Given the description of an element on the screen output the (x, y) to click on. 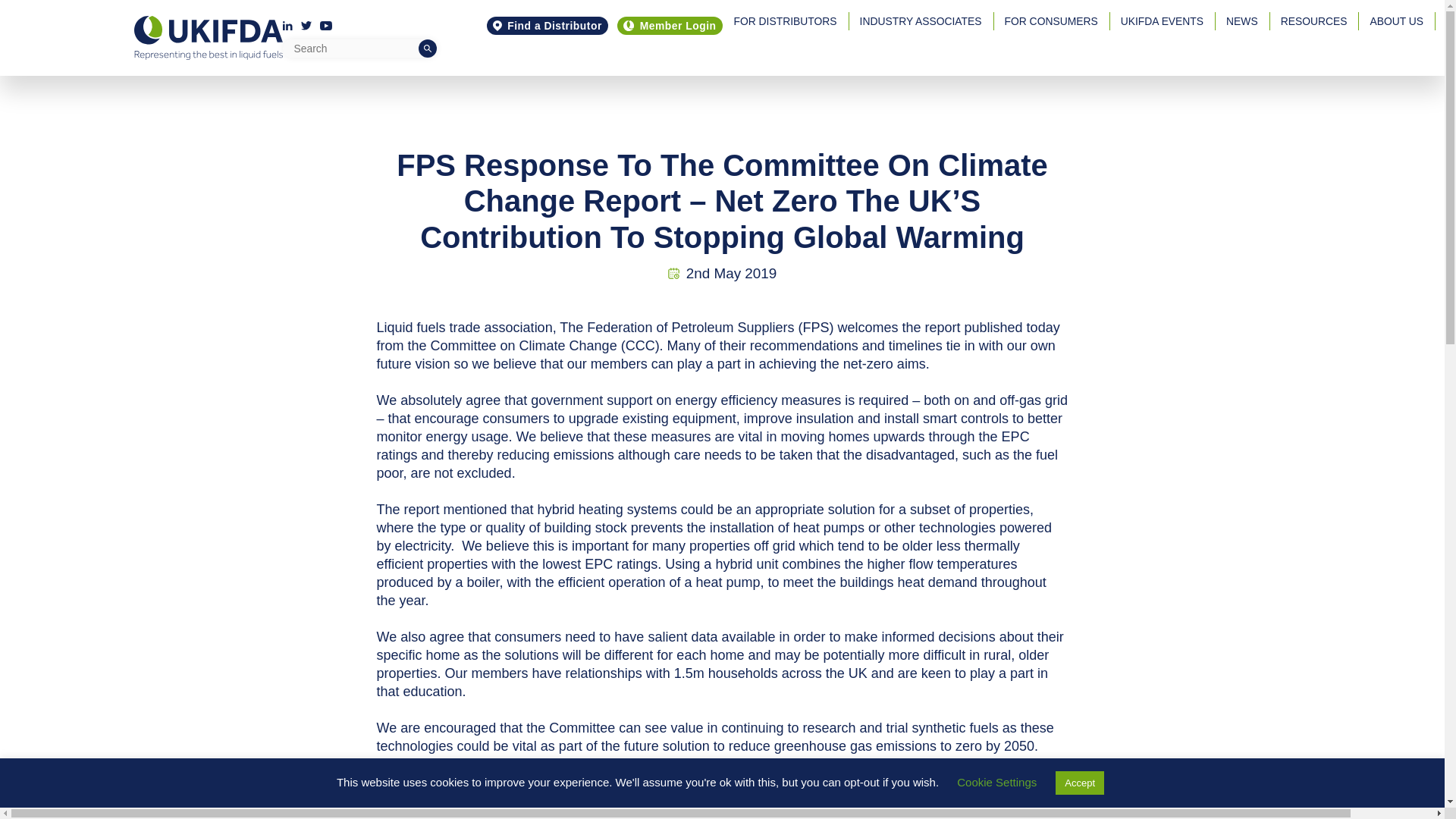
ABOUT US (1396, 21)
NEWS (1241, 21)
Find a Distributor (547, 25)
UKIFDA EVENTS (1161, 21)
Member Login (669, 25)
RESOURCES (1313, 21)
FOR DISTRIBUTORS (784, 21)
INDUSTRY ASSOCIATES (920, 21)
FOR CONSUMERS (1050, 21)
